Given the description of an element on the screen output the (x, y) to click on. 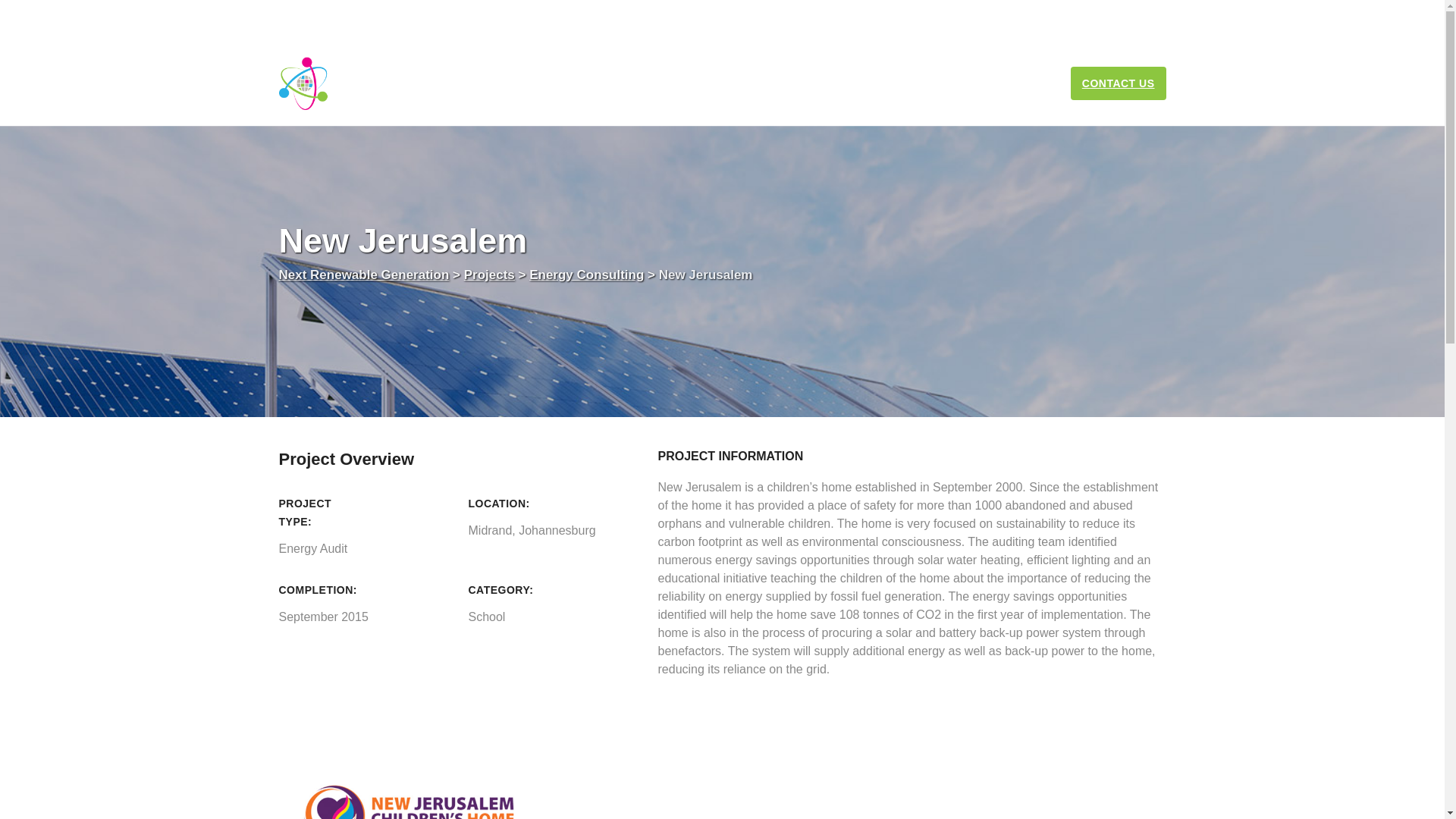
Go to Projects. (489, 274)
Next Renewable Generation (365, 82)
new-jerusalem (419, 767)
Go to Next Renewable Generation. (364, 274)
Go to the Energy Consulting Project Category archives. (586, 274)
